Given the description of an element on the screen output the (x, y) to click on. 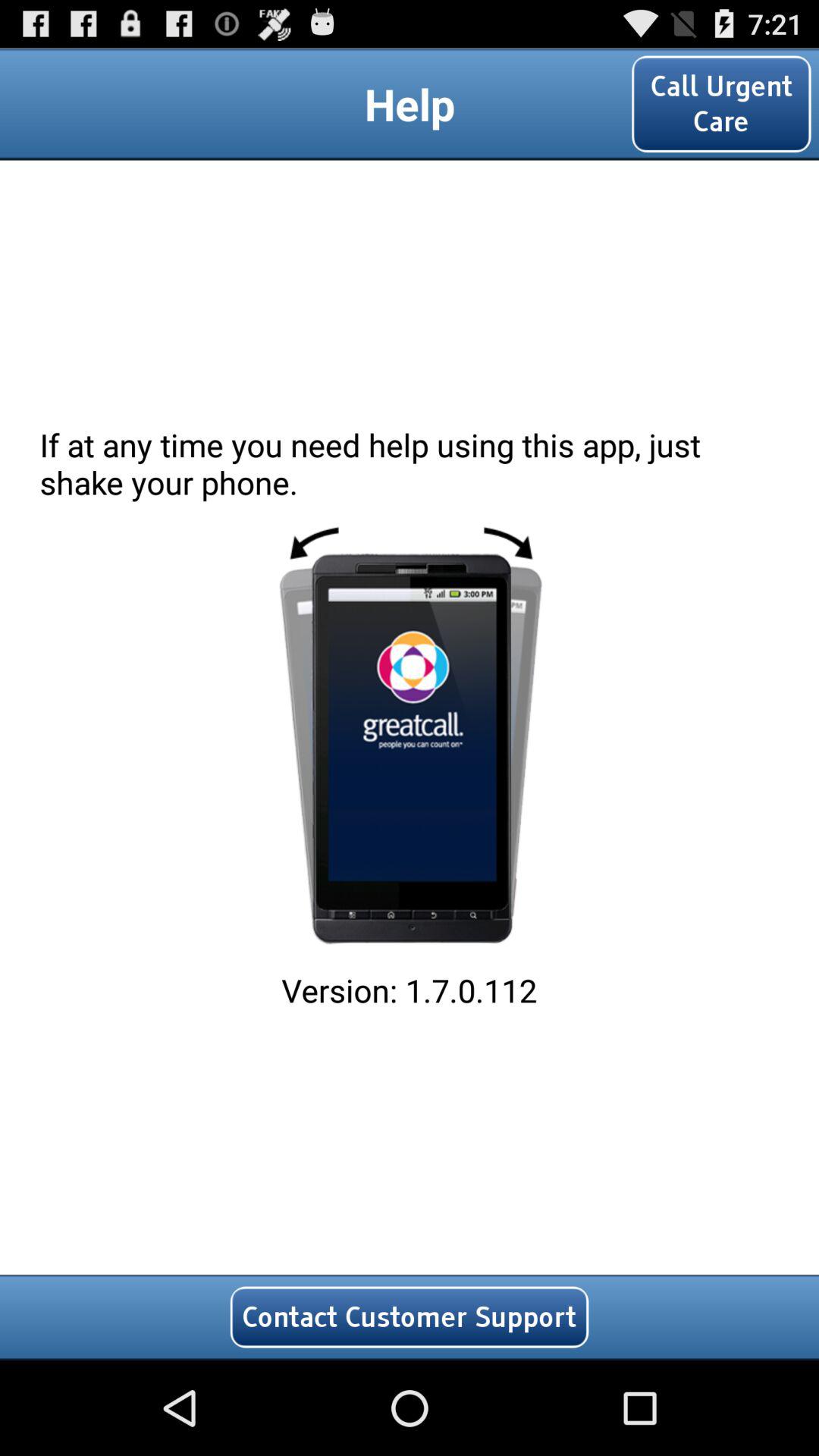
flip to the contact customer support icon (409, 1316)
